Given the description of an element on the screen output the (x, y) to click on. 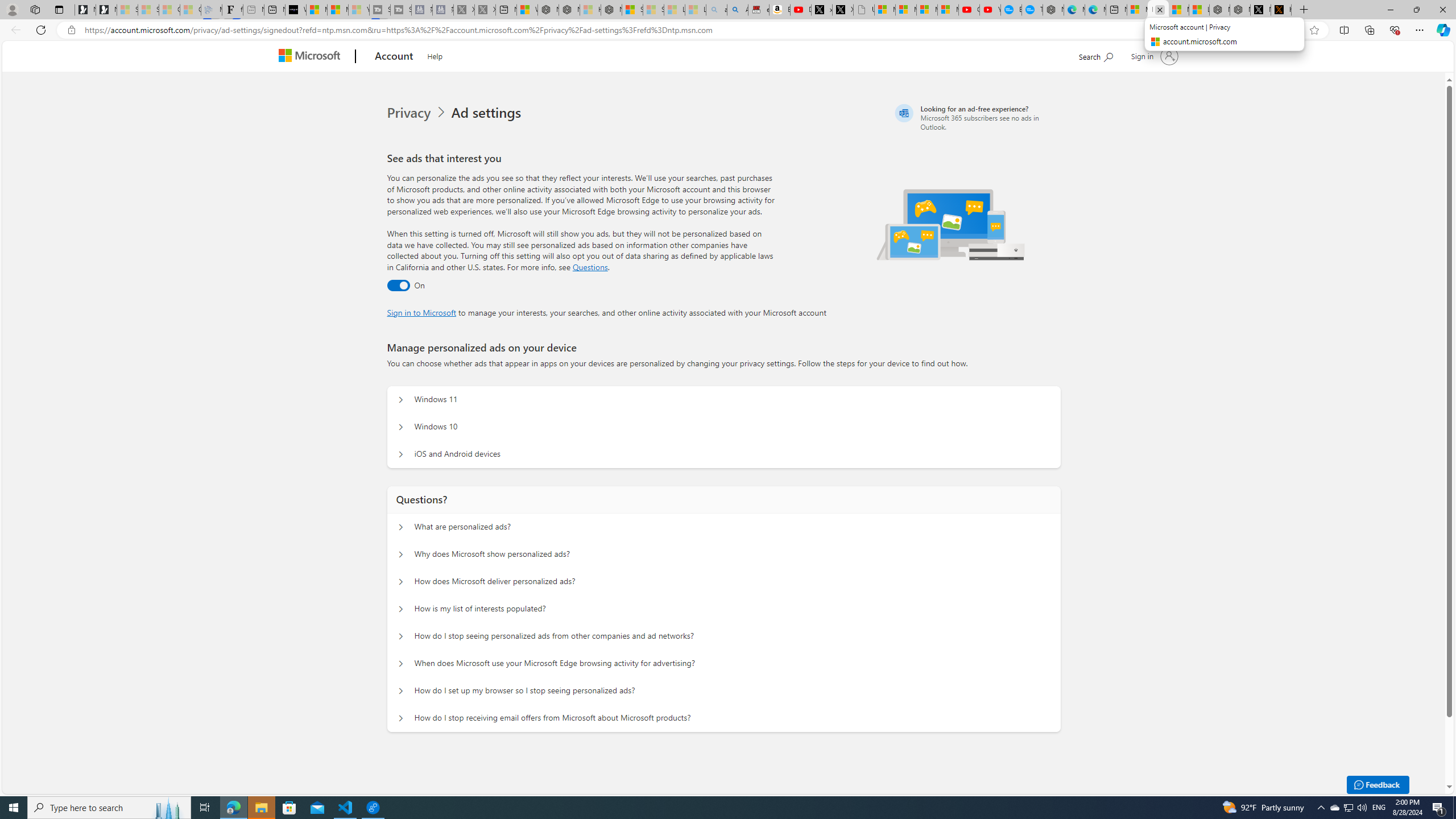
Newsletter Sign Up (106, 9)
Questions? How does Microsoft deliver personalized ads? (401, 581)
help.x.com | 524: A timeout occurred (1280, 9)
Gloom - YouTube (968, 9)
Untitled (863, 9)
Privacy (410, 112)
Questions? How is my list of interests populated? (401, 608)
Questions? Why does Microsoft show personalized ads? (401, 554)
